Given the description of an element on the screen output the (x, y) to click on. 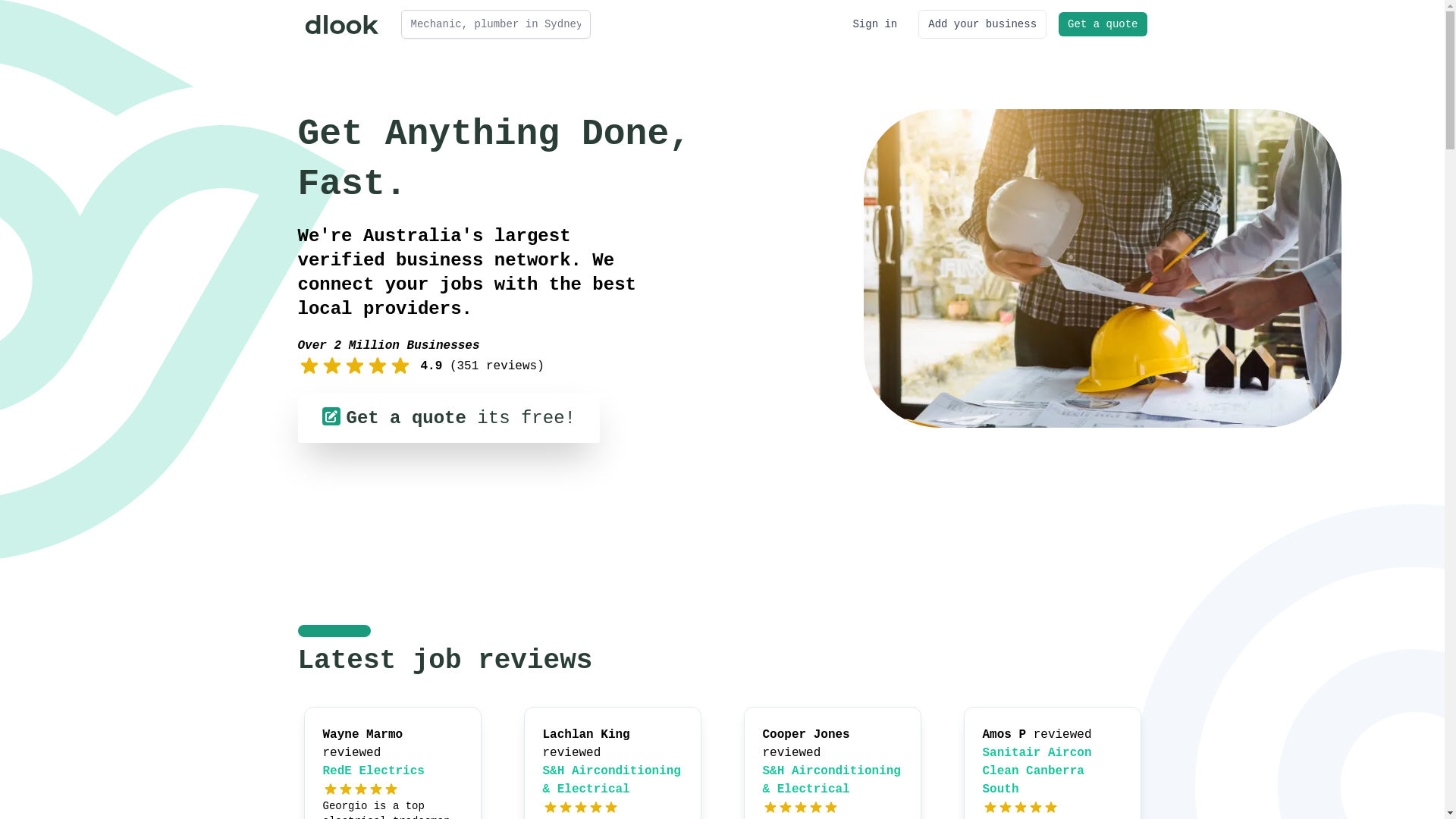
RedE Electrics Element type: text (373, 771)
S&H Airconditioning & Electrical Element type: text (831, 780)
Add your business Element type: text (982, 23)
Sign in Element type: text (874, 23)
Get a quote its free! Element type: text (448, 417)
S&H Airconditioning & Electrical Element type: text (611, 780)
Get a quote Element type: text (1102, 24)
Sanitair Aircon Clean Canberra South Element type: text (1037, 771)
